Given the description of an element on the screen output the (x, y) to click on. 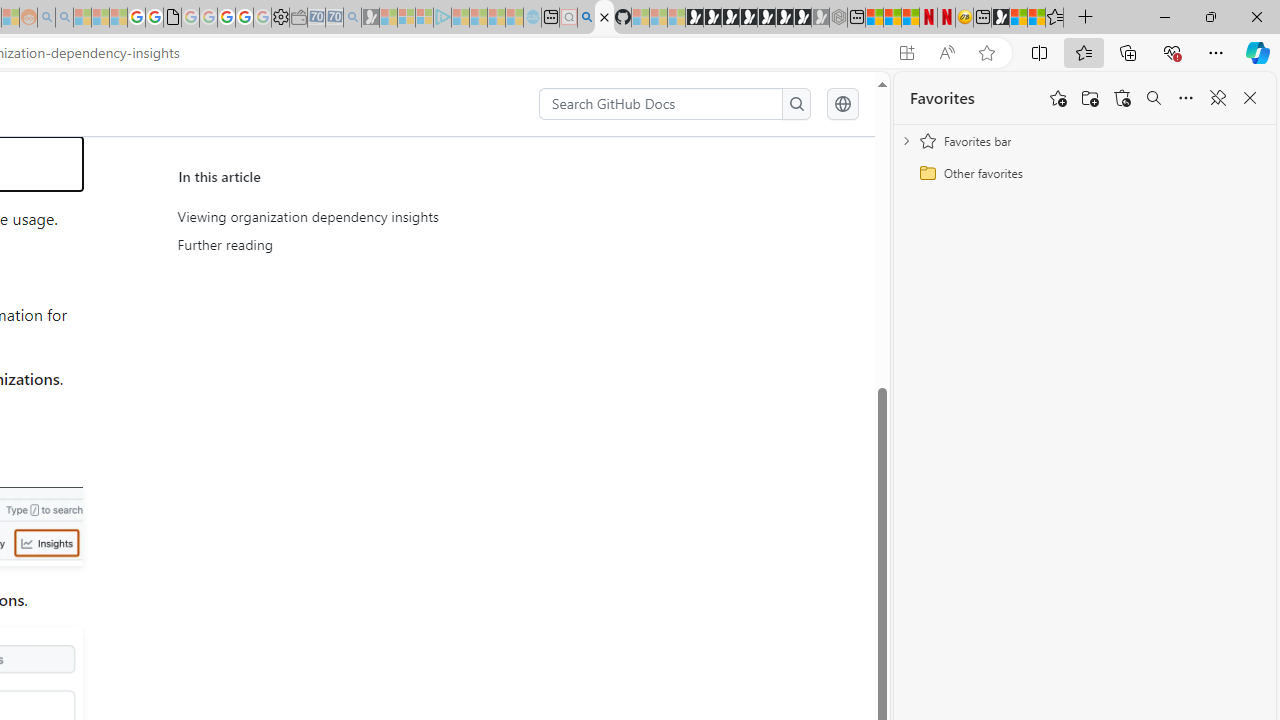
github - Search (586, 17)
Restore deleted favorites (1122, 98)
Search favorites (1153, 98)
